Given the description of an element on the screen output the (x, y) to click on. 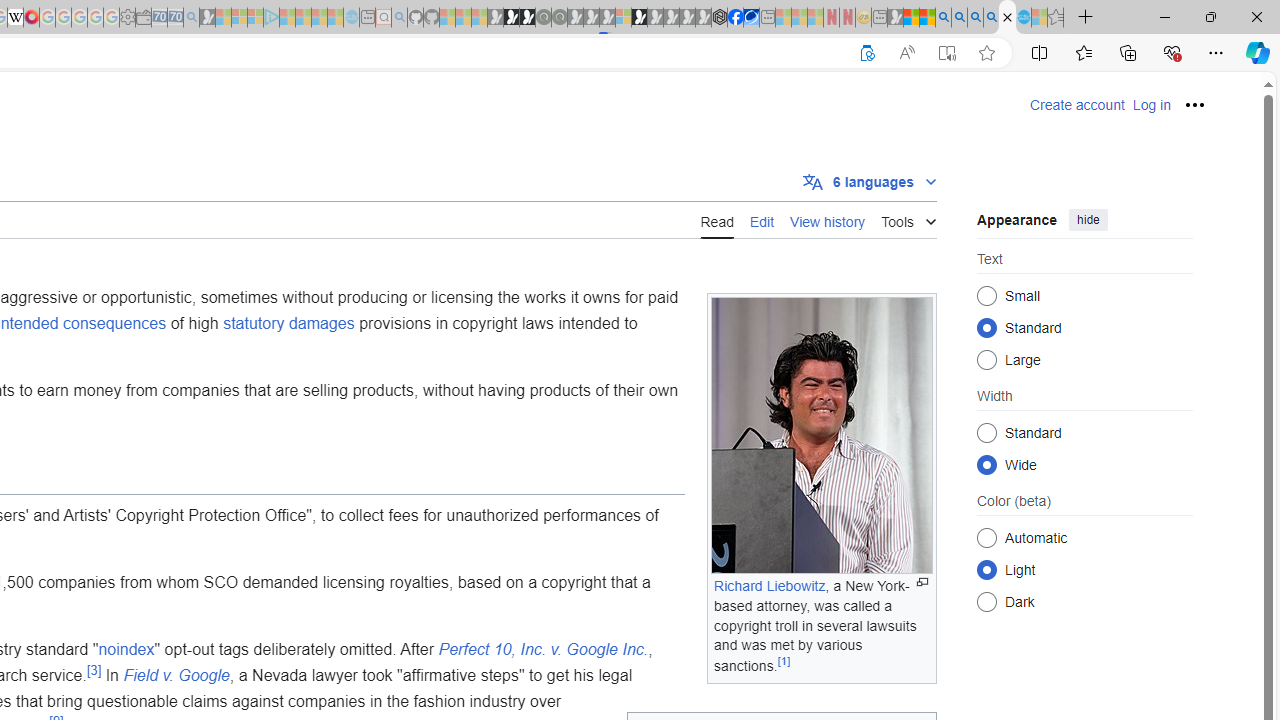
MediaWiki (31, 17)
Field v. Google (176, 675)
Personal tools (1194, 104)
Log in (1151, 105)
Bing AI - Search (943, 17)
Google Chrome Internet Browser Download - Search Images (991, 17)
[3] (93, 669)
Log in (1151, 105)
MSN - Sleeping (895, 17)
